Given the description of an element on the screen output the (x, y) to click on. 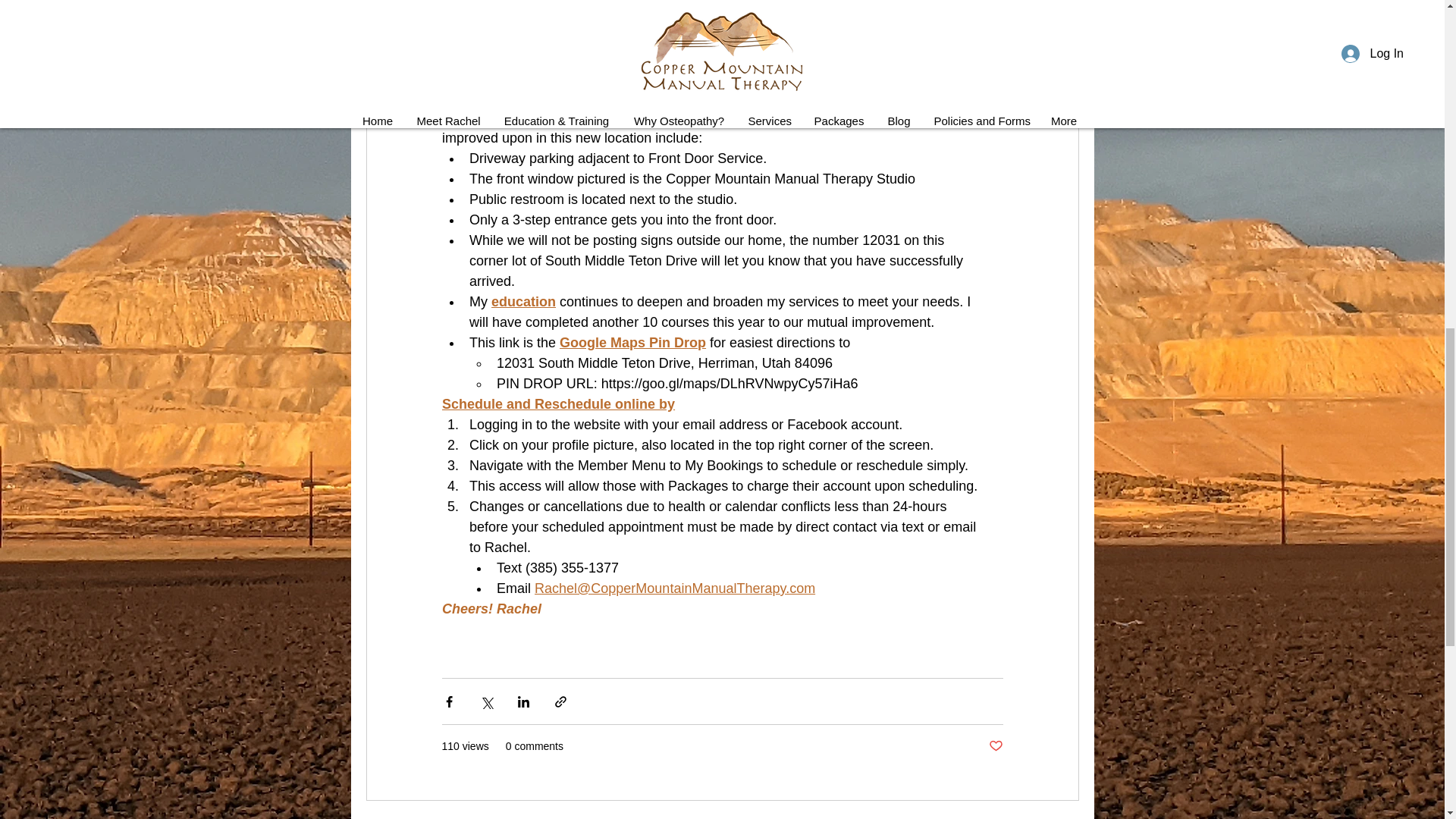
Schedule and Reschedule online by (557, 403)
Post not marked as liked (995, 746)
Google Maps Pin Drop (632, 342)
education (524, 301)
